Given the description of an element on the screen output the (x, y) to click on. 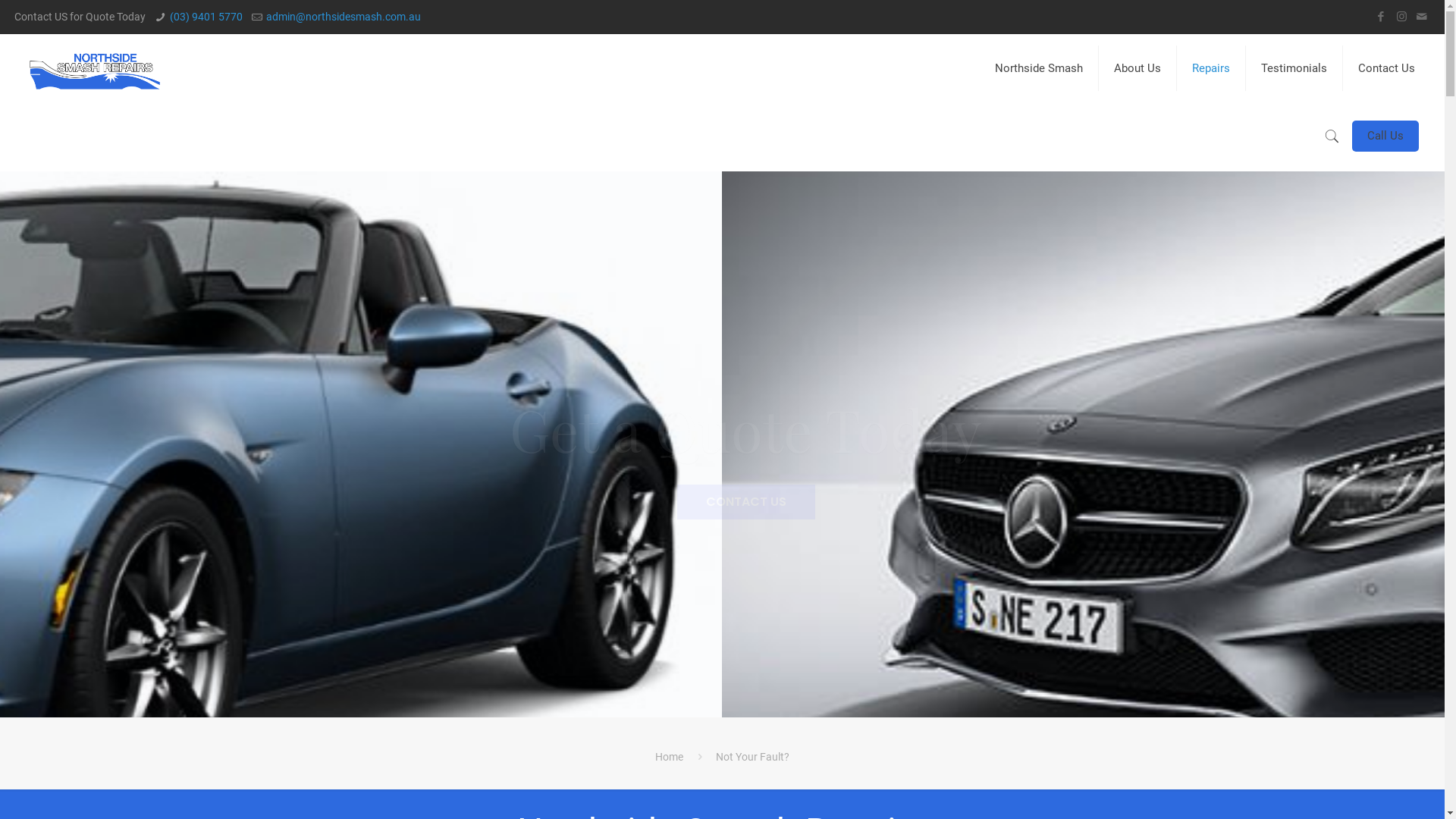
(03) 9401 5770 Element type: text (205, 16)
Contact Us Element type: text (1386, 68)
Call Us Element type: text (1385, 135)
Testimonials Element type: text (1294, 68)
Facebook Element type: hover (1381, 16)
Instagram Element type: hover (1401, 16)
Repairs Element type: text (1210, 68)
Home Element type: text (669, 756)
Northside Smash Repairs Epping Element type: hover (94, 68)
Northside Smash Element type: text (1038, 68)
admin@northsidesmash.com.au Element type: text (343, 16)
About Us Element type: text (1137, 68)
